Given the description of an element on the screen output the (x, y) to click on. 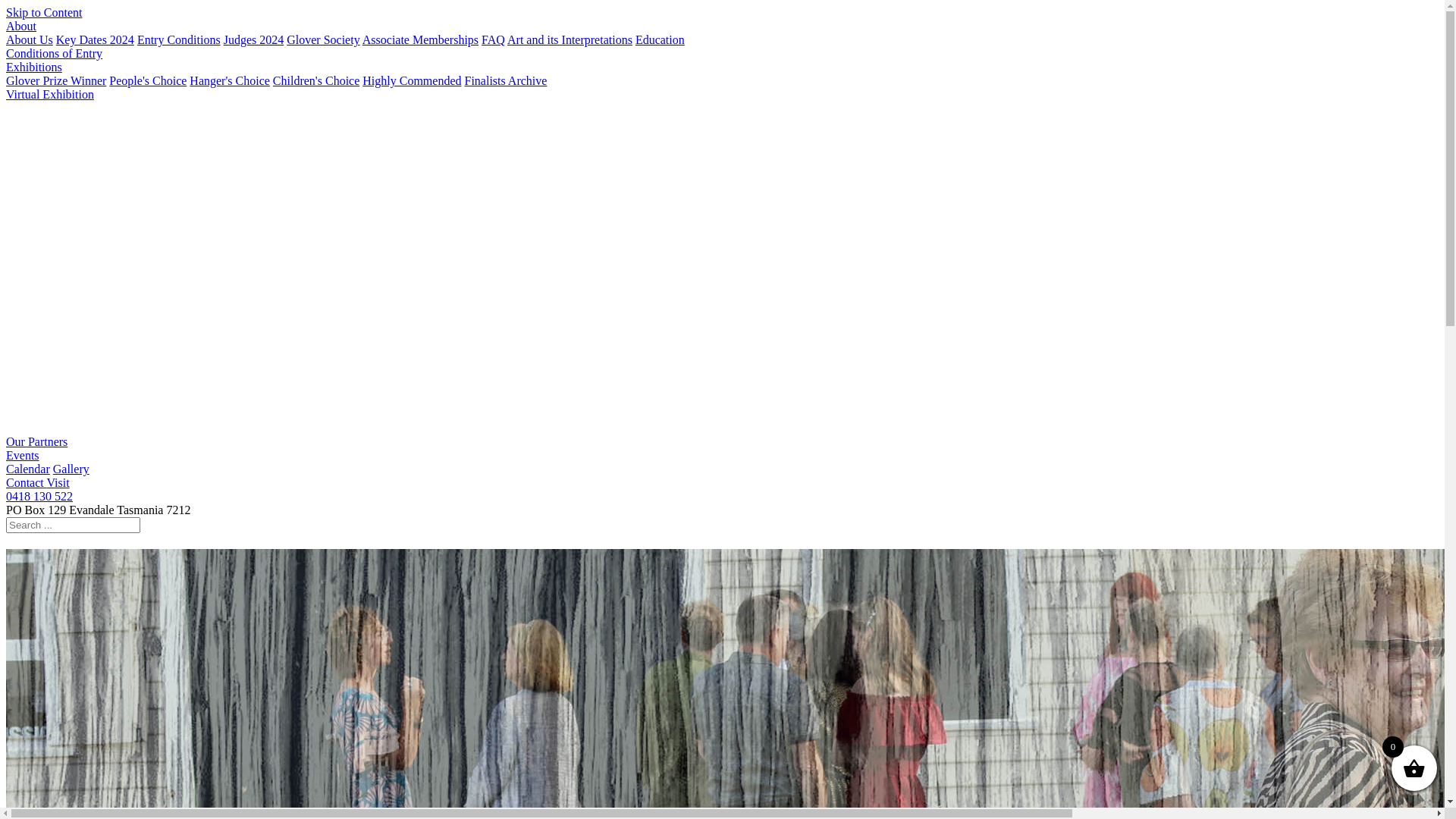
Visit Element type: text (57, 482)
Key Dates 2024 Element type: text (95, 39)
Entry Conditions Element type: text (178, 39)
Gallery Element type: text (71, 468)
About Element type: text (21, 25)
Skip to Content Element type: text (43, 12)
Virtual Exhibition Element type: text (50, 93)
Highly Commended Element type: text (411, 80)
Children's Choice Element type: text (316, 80)
Events Element type: text (22, 454)
0418 130 522 Element type: text (39, 495)
Glover Prize Winner Element type: text (56, 80)
Glover Society Element type: text (322, 39)
Art and its Interpretations Element type: text (569, 39)
Hanger's Choice Element type: text (229, 80)
Exhibitions Element type: text (34, 66)
Judges 2024 Element type: text (253, 39)
Our Partners Element type: text (36, 441)
Education Element type: text (659, 39)
Conditions of Entry Element type: text (54, 53)
About Us Element type: text (29, 39)
Calendar Element type: text (28, 468)
FAQ Element type: text (493, 39)
Search for: Element type: hover (73, 525)
Finalists Archive Element type: text (505, 80)
Associate Memberships Element type: text (420, 39)
People's Choice Element type: text (147, 80)
Contact Element type: text (26, 482)
